Given the description of an element on the screen output the (x, y) to click on. 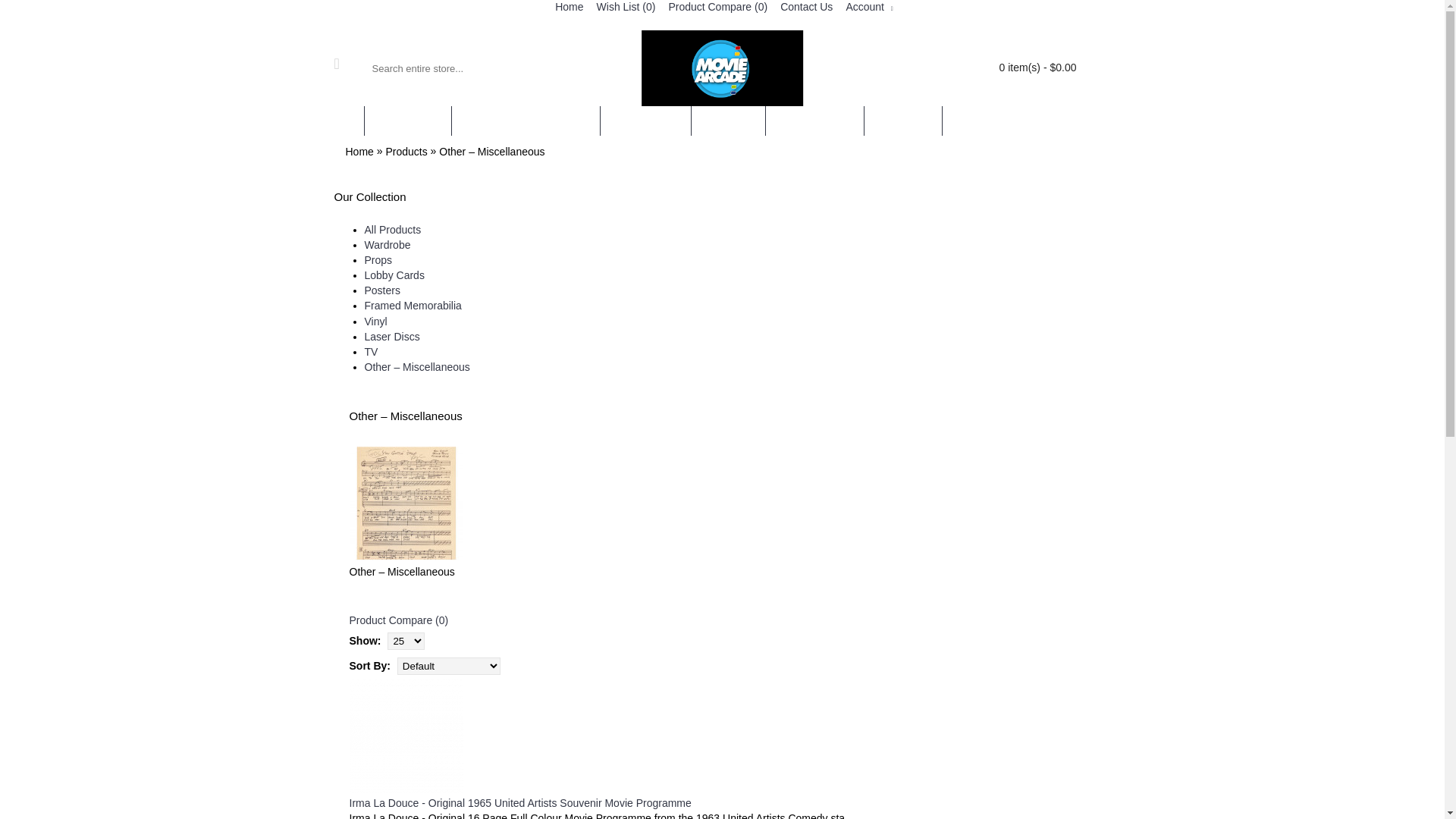
Wardrobe Element type: text (387, 244)
MY ACCOUNT Element type: text (814, 120)
Product Compare (0) Element type: text (715, 7)
All Products Element type: text (392, 229)
PRODUCTS Element type: text (407, 120)
Props Element type: text (378, 260)
Vinyl Element type: text (375, 321)
Wish List (0) Element type: text (624, 7)
Products Element type: text (405, 151)
Laser Discs Element type: text (391, 336)
Lobby Cards Element type: text (393, 275)
Product Compare (0) Element type: text (398, 620)
Posters Element type: text (381, 290)
CONTACT Element type: text (902, 120)
ARCHIVE Element type: text (728, 120)
Account Element type: text (867, 7)
GRADING STANDARDS Element type: text (525, 120)
TV Element type: text (370, 351)
0 item(s) - $0.00 Element type: text (1013, 68)
OUR STORY Element type: text (645, 120)
Home Element type: text (566, 7)
Movie Arcade Element type: hover (722, 68)
Home Element type: text (359, 151)
Contact Us Element type: text (804, 7)
Framed Memorabilia Element type: text (412, 305)
